Given the description of an element on the screen output the (x, y) to click on. 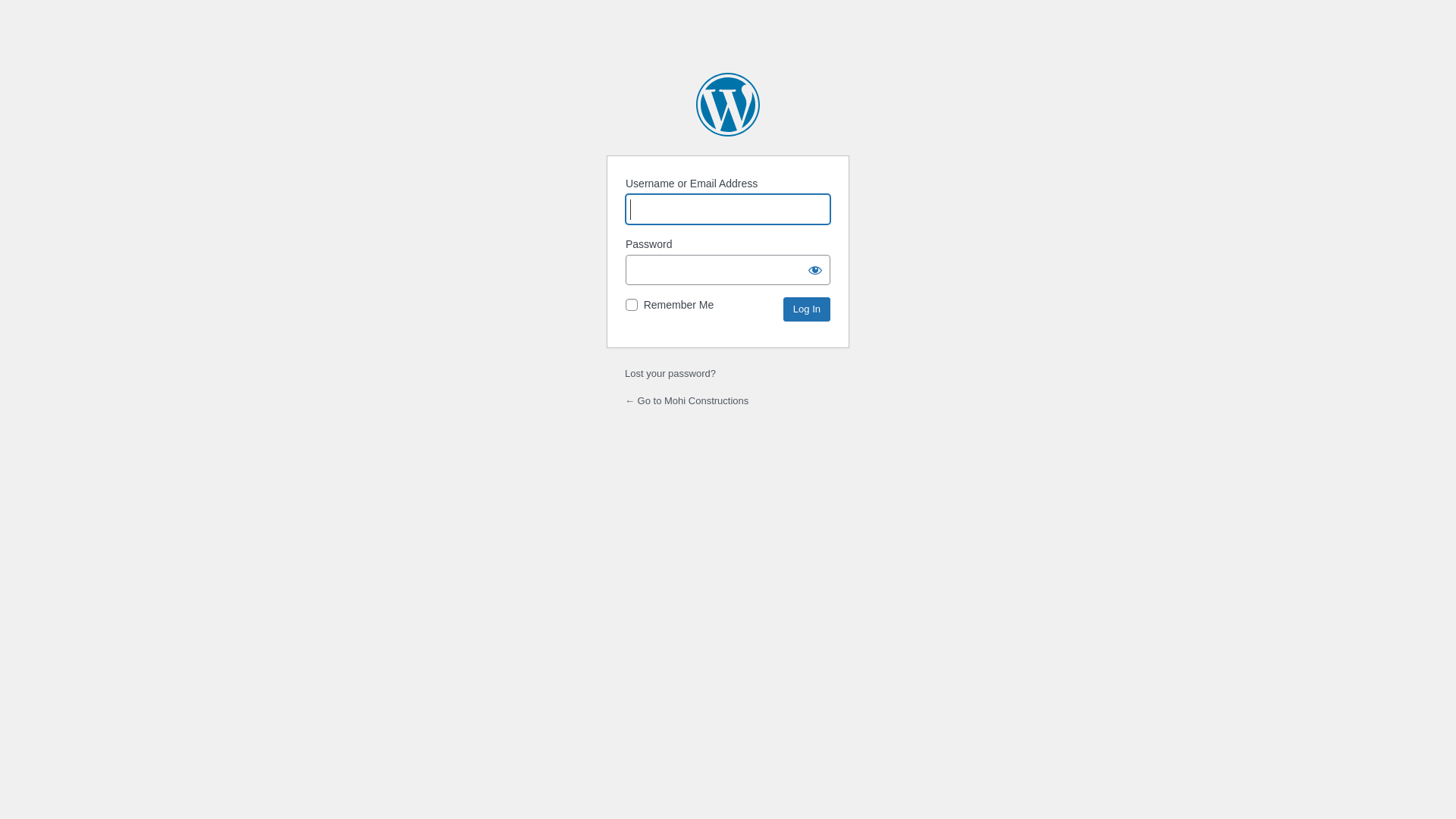
Powered by WordPress Element type: text (727, 104)
Log In Element type: text (806, 309)
Lost your password? Element type: text (669, 373)
